Given the description of an element on the screen output the (x, y) to click on. 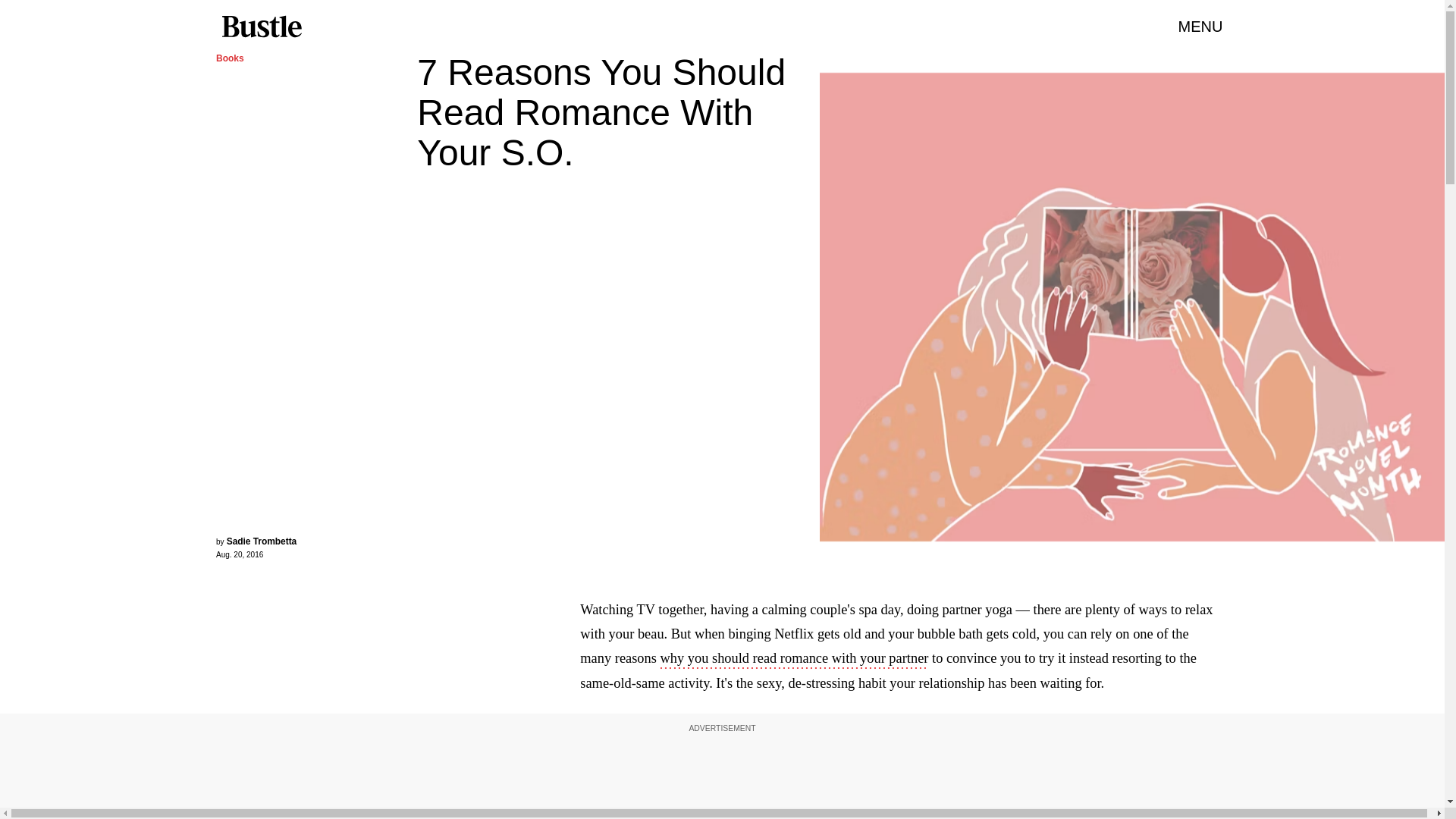
why you should read romance with your partner (794, 659)
Bustle (261, 26)
